Given the description of an element on the screen output the (x, y) to click on. 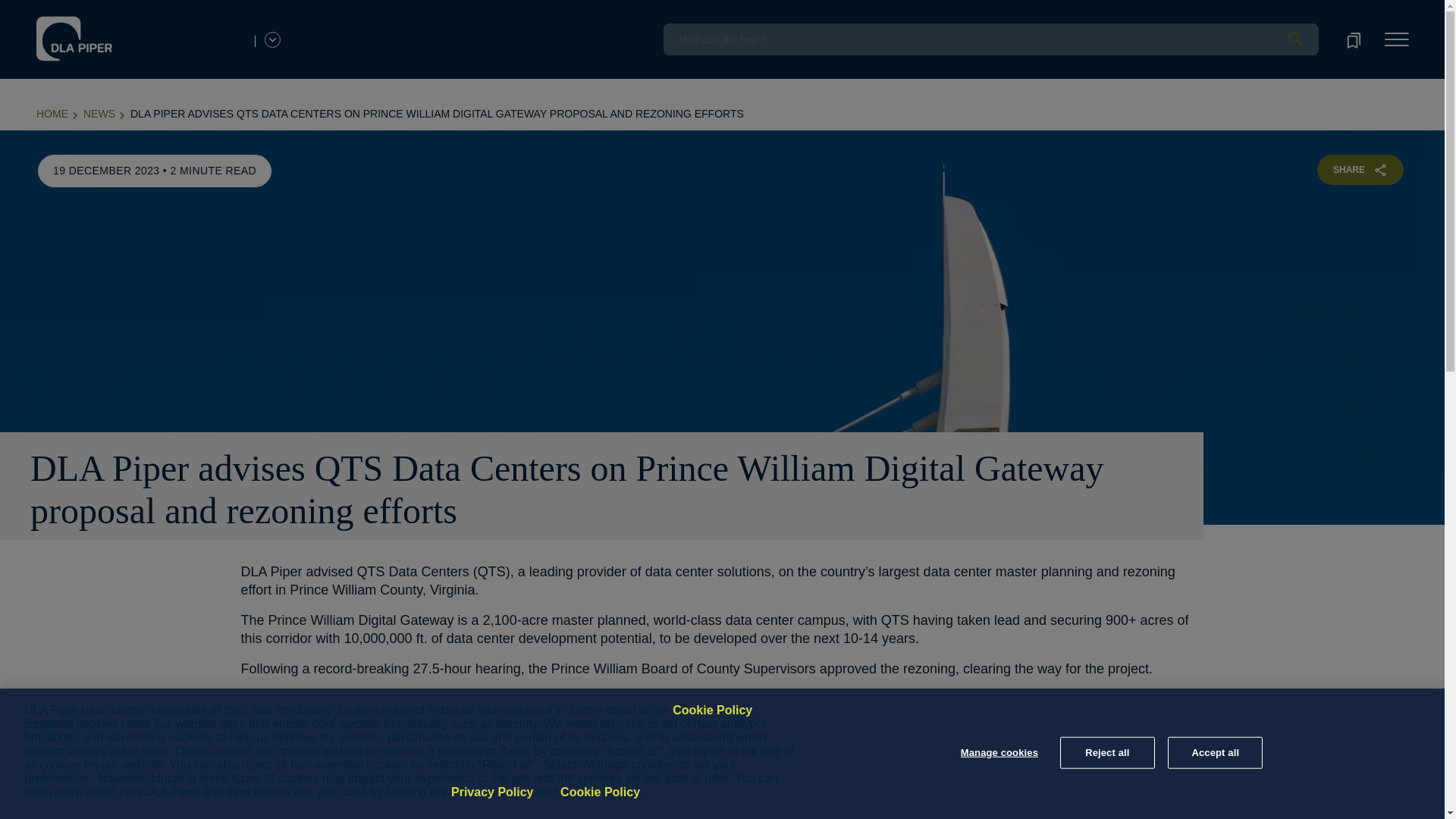
Insert a query. Press enter to send (990, 39)
